Given the description of an element on the screen output the (x, y) to click on. 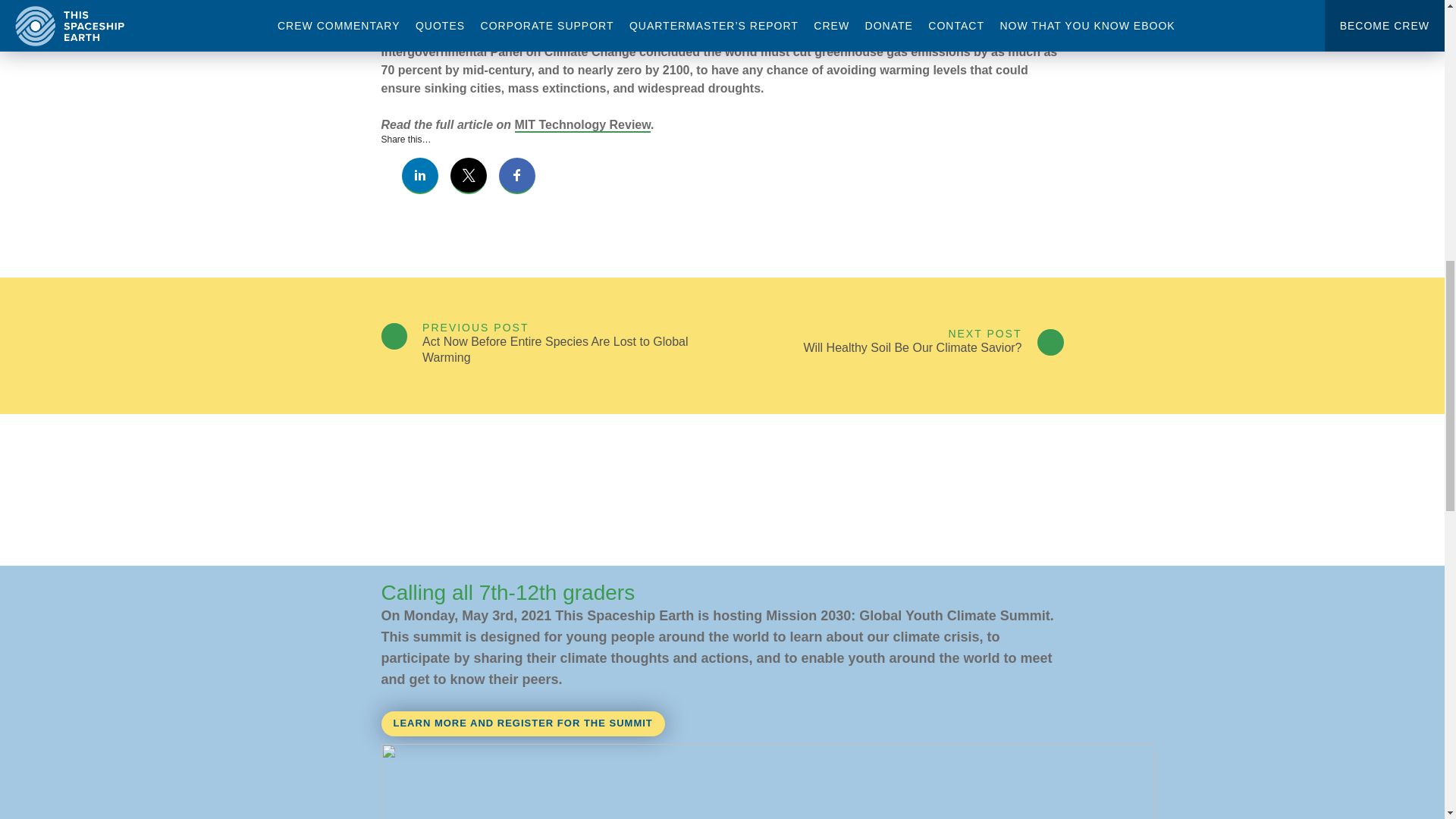
MIT Technology Review (582, 124)
LEARN MORE AND REGISTER FOR THE SUMMIT (521, 723)
